Given the description of an element on the screen output the (x, y) to click on. 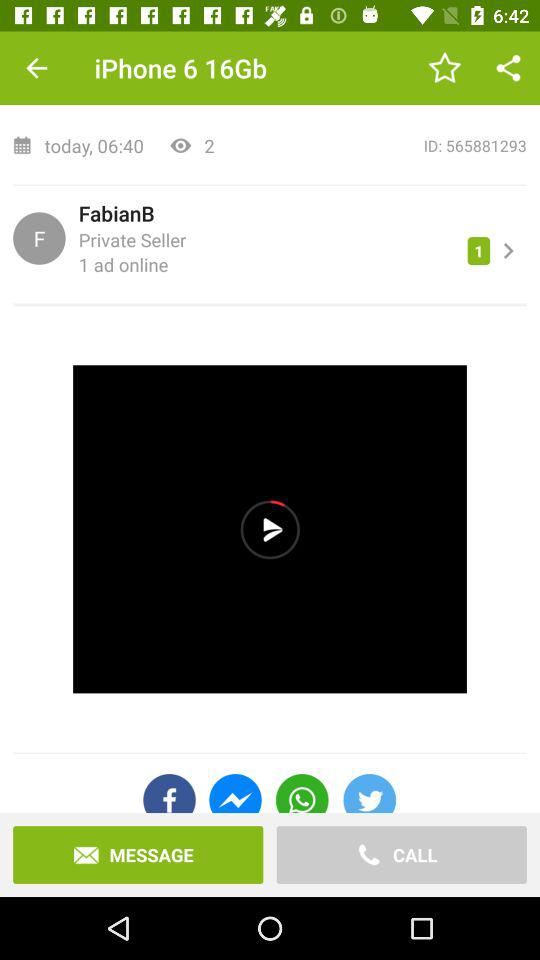
tap icon next to 2 icon (377, 145)
